Given the description of an element on the screen output the (x, y) to click on. 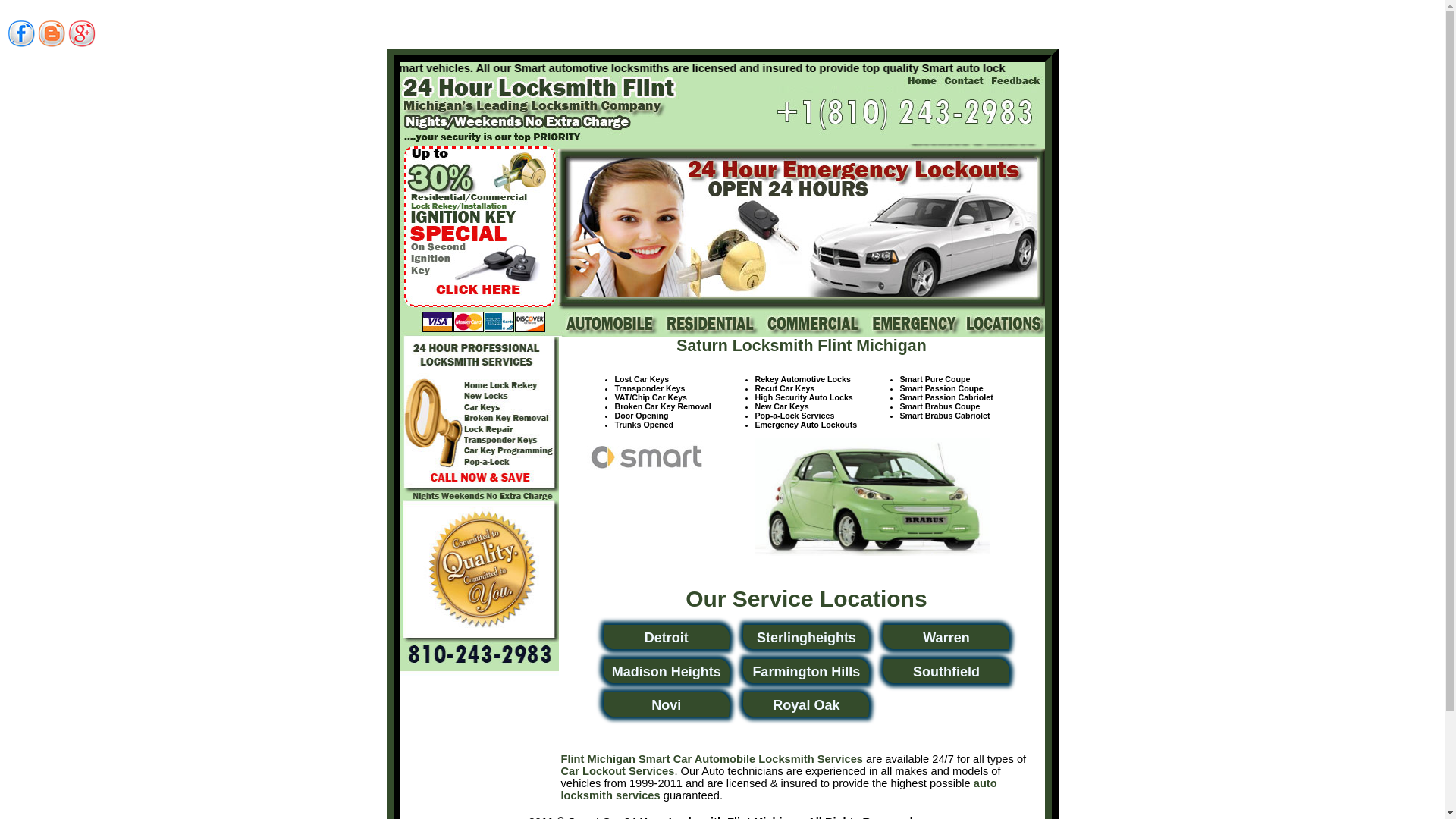
Warren Element type: text (945, 637)
Farmington Hills Element type: text (805, 671)
Detroit Element type: text (666, 637)
Royal Oak Element type: text (805, 704)
Novi Element type: text (665, 704)
Car Lockout Services Element type: text (617, 771)
Southfield Element type: text (946, 671)
Madison Heights Element type: text (666, 671)
Flint Michigan Smart Car Automobile Locksmith Services Element type: text (712, 759)
auto locksmith services Element type: text (779, 789)
Sterlingheights Element type: text (806, 637)
